Given the description of an element on the screen output the (x, y) to click on. 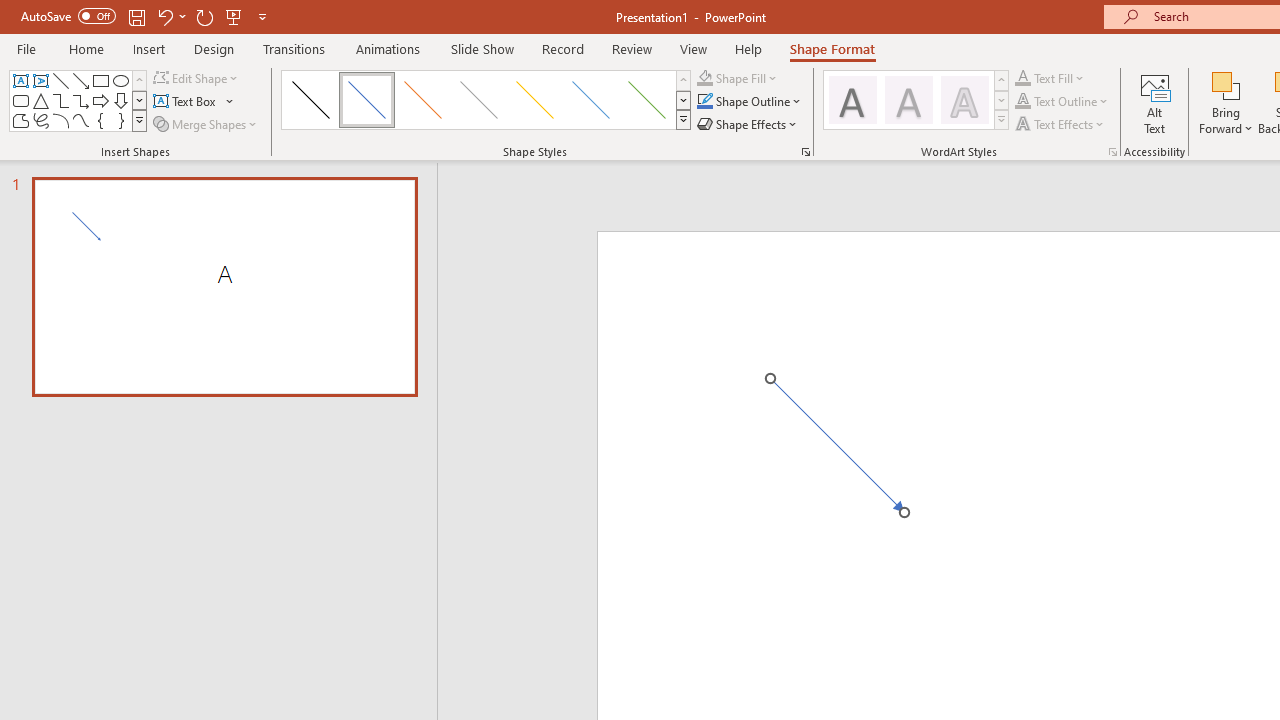
Subtle Line - Accent 6 (646, 100)
Fill: Black, Text color 1; Shadow (852, 100)
Merge Shapes (206, 124)
Format Text Effects... (1112, 151)
